Given the description of an element on the screen output the (x, y) to click on. 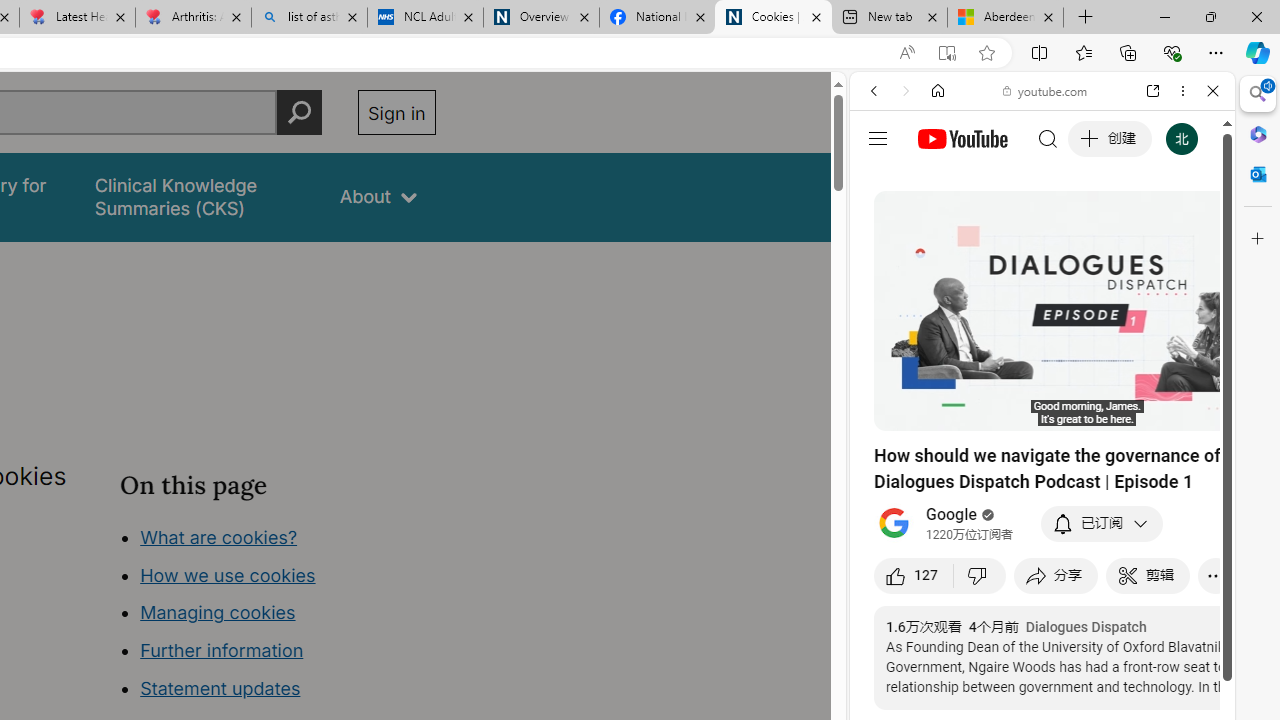
Class: ytp-subtitles-button-icon (1127, 412)
WEB   (882, 228)
YouTube (1034, 296)
